Given the description of an element on the screen output the (x, y) to click on. 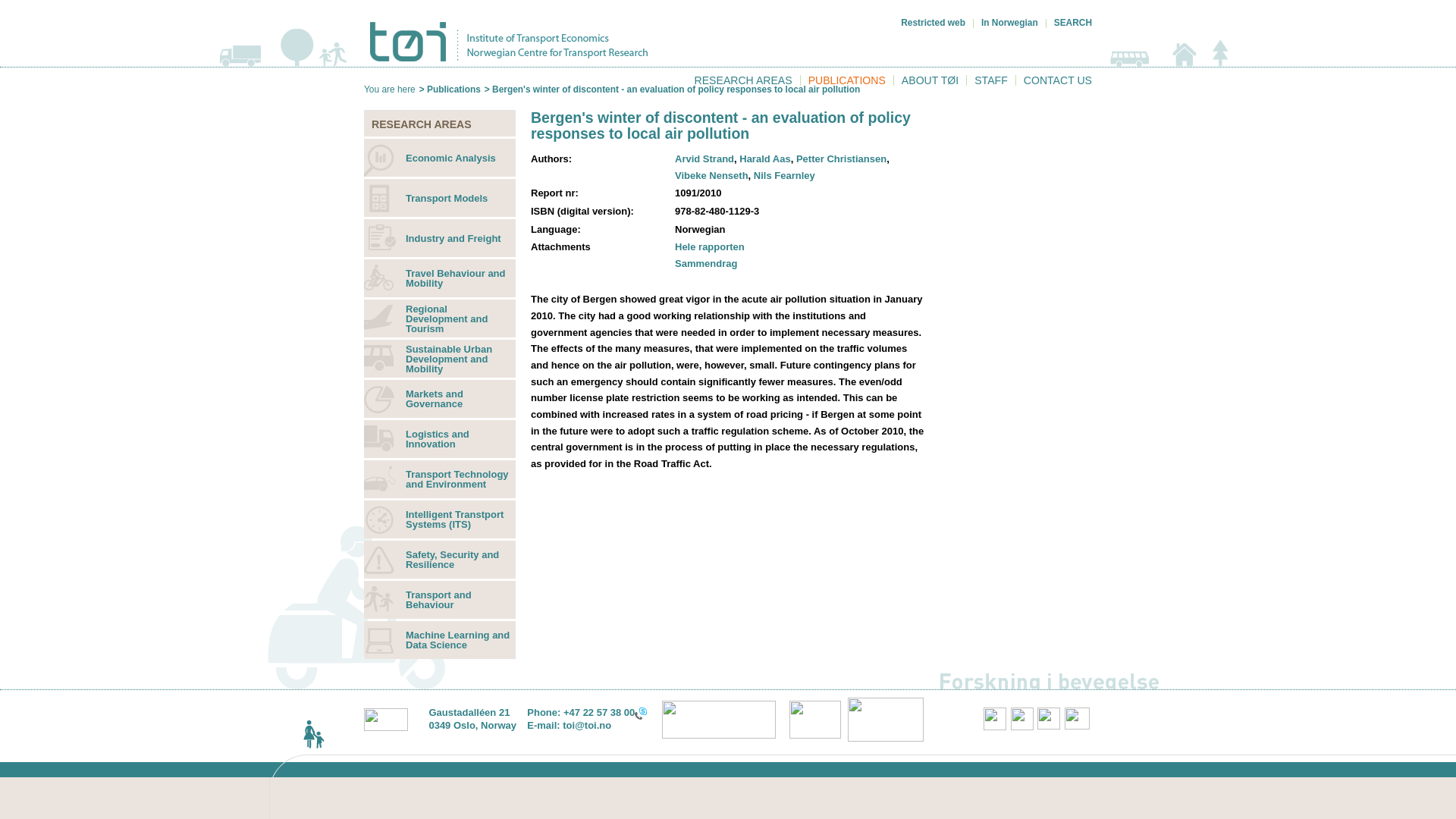
Nils Fearnley (784, 174)
Logistics and Innovation (439, 438)
Transport Models (439, 198)
In Norwegian (1009, 22)
STAFF (990, 80)
Regional Development and Tourism (439, 318)
Industry and Freight (439, 238)
Transport and Behaviour (439, 599)
Sustainable Urban Development and Mobility (439, 358)
Petter Christiansen (841, 158)
